Given the description of an element on the screen output the (x, y) to click on. 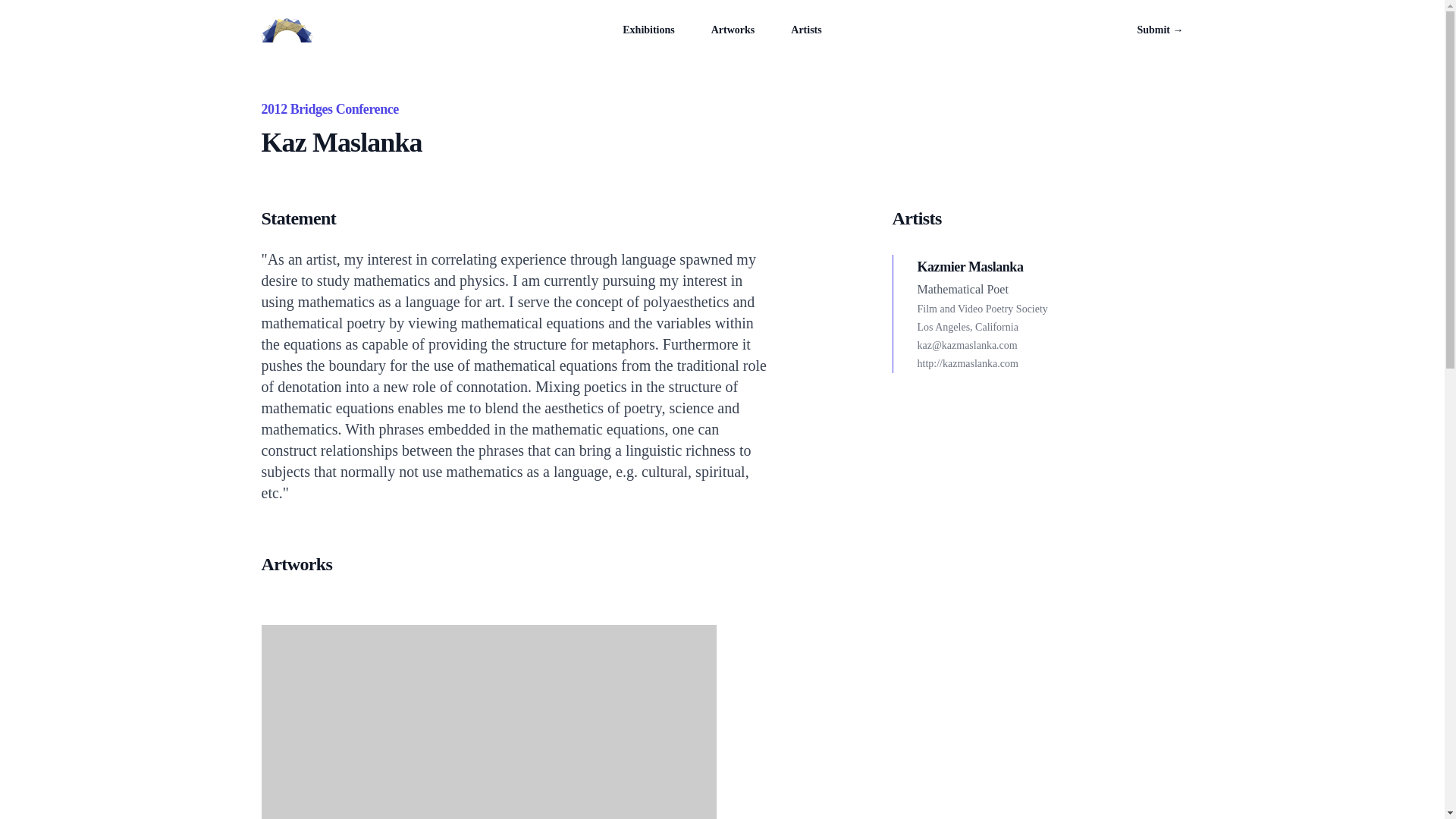
Artworks (733, 30)
2012 Bridges Conference (328, 109)
Artists (805, 30)
Mathematical Art Galleries (285, 29)
Exhibitions (648, 30)
